Given the description of an element on the screen output the (x, y) to click on. 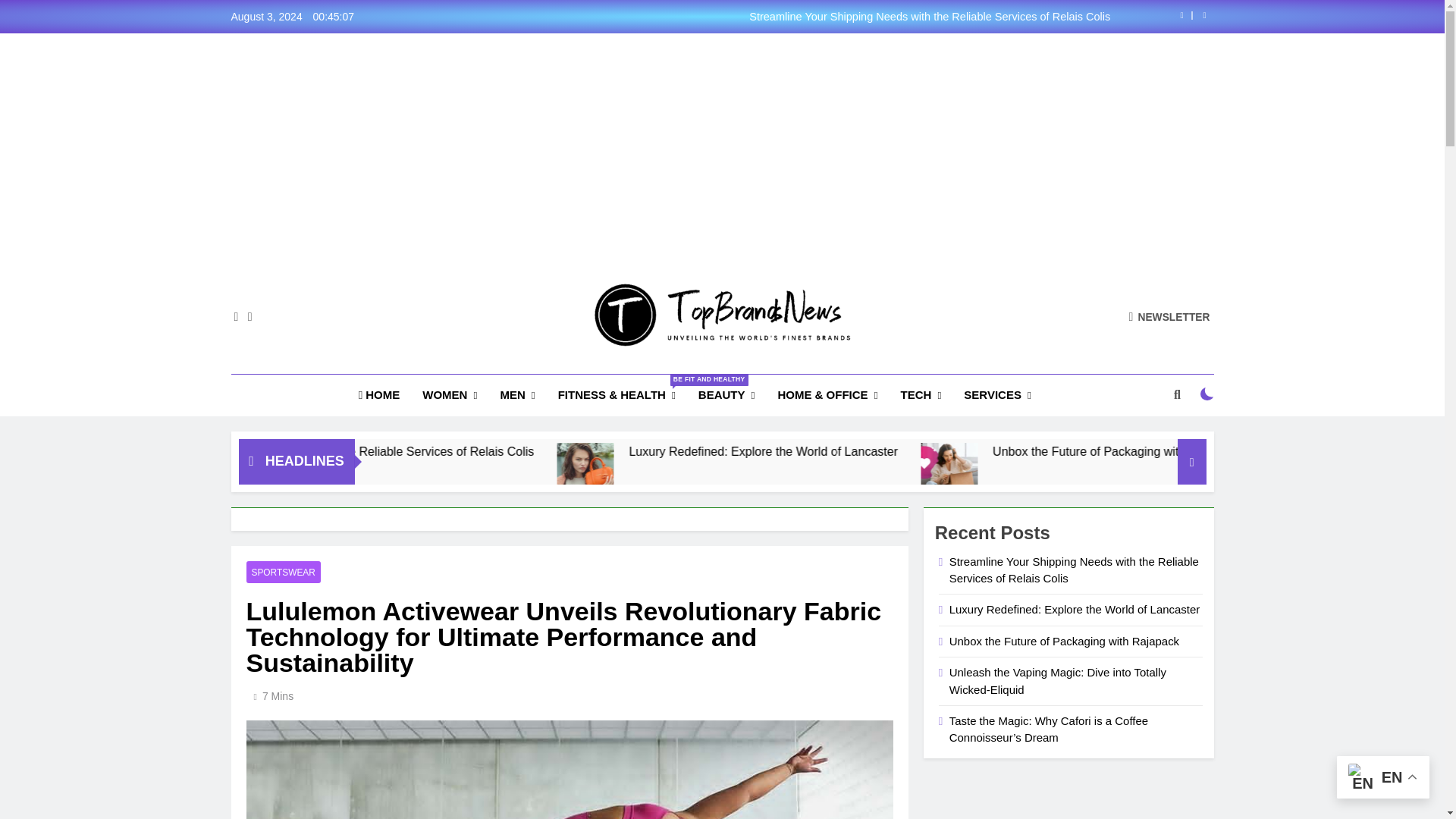
NEWSLETTER (1169, 316)
WOMEN (448, 395)
BEAUTY (727, 395)
on (1206, 394)
Luxury Redefined: Explore the World of Lancaster (744, 471)
HOME (379, 394)
Luxury Redefined: Explore the World of Lancaster (741, 471)
Top Brands News (608, 368)
Luxury Redefined: Explore the World of Lancaster (917, 451)
MEN (516, 395)
